Given the description of an element on the screen output the (x, y) to click on. 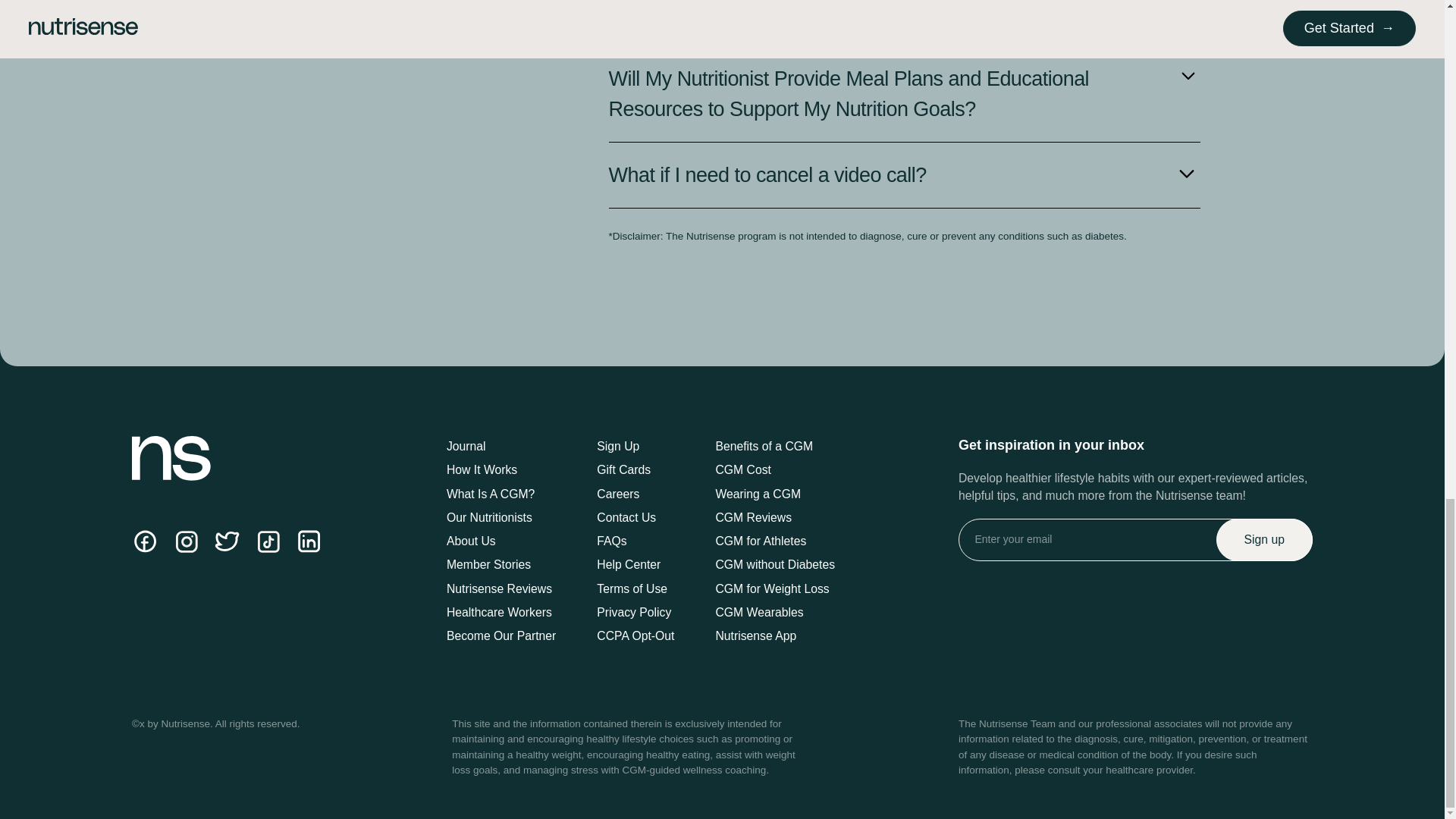
Sign Up (635, 446)
Terms of Use (635, 588)
What Is A CGM? (501, 494)
Sign up (1264, 539)
Careers (635, 494)
Journal (501, 446)
Member Stories (501, 565)
FAQs (635, 541)
Healthcare Workers (501, 612)
Our Nutritionists (501, 517)
About Us (501, 541)
Help Center (635, 565)
Contact Us (635, 517)
Nutrisense Reviews (501, 588)
How It Works (501, 470)
